Given the description of an element on the screen output the (x, y) to click on. 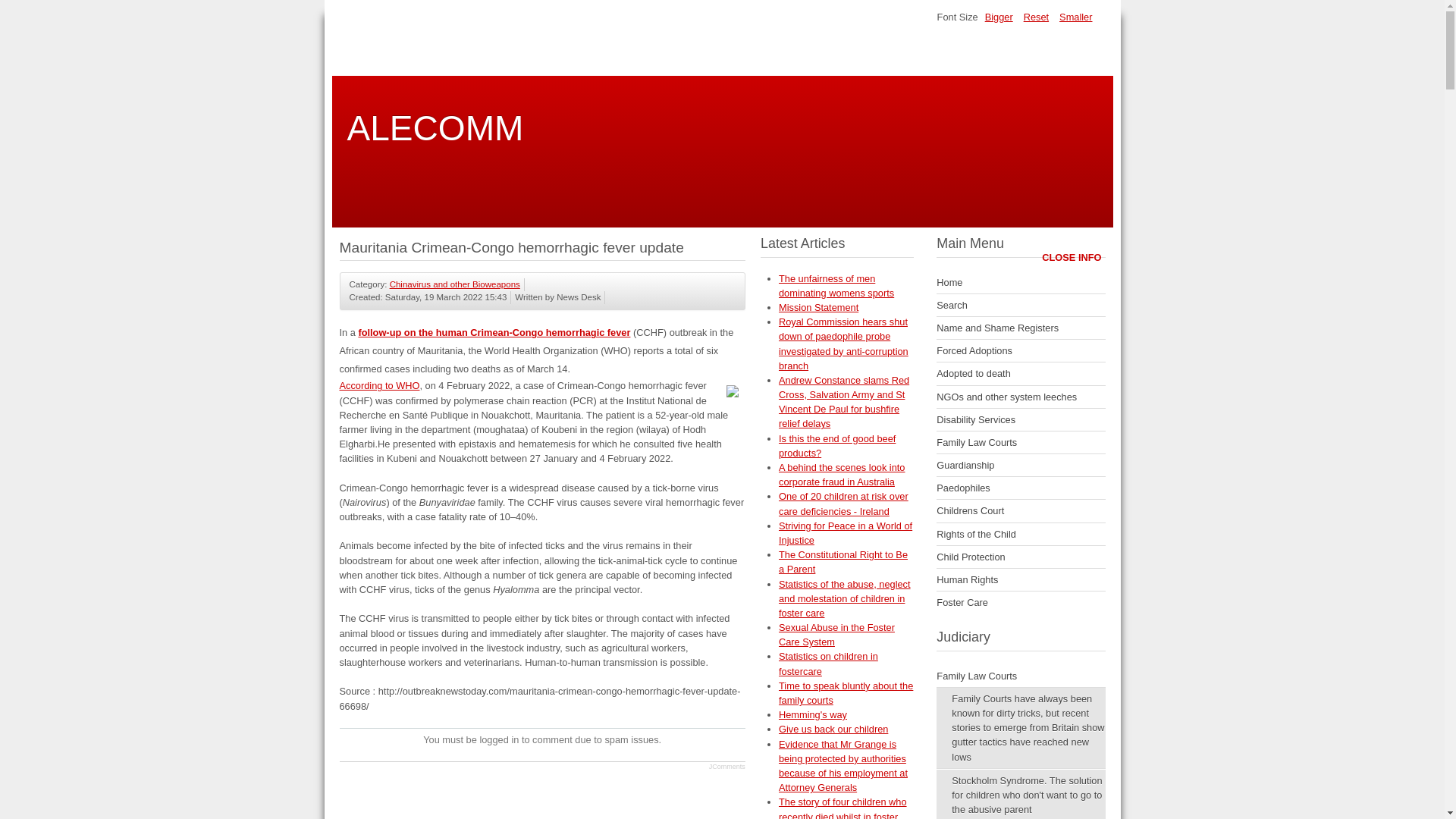
One of 20 children at risk over care deficiencies - Ireland (843, 503)
Bigger (998, 16)
Statistics on children in fostercare (827, 663)
JComments (727, 766)
The Constitutional Right to Be a Parent (842, 561)
Time to speak bluntly about the family courts (845, 692)
Smaller (1075, 16)
Hemming's way (812, 714)
Striving for Peace in a World of Injustice (845, 533)
Decrease size (1075, 16)
follow-up on the human Crimean-Congo hemorrhagic fever (494, 332)
Mission Statement (818, 307)
